Given the description of an element on the screen output the (x, y) to click on. 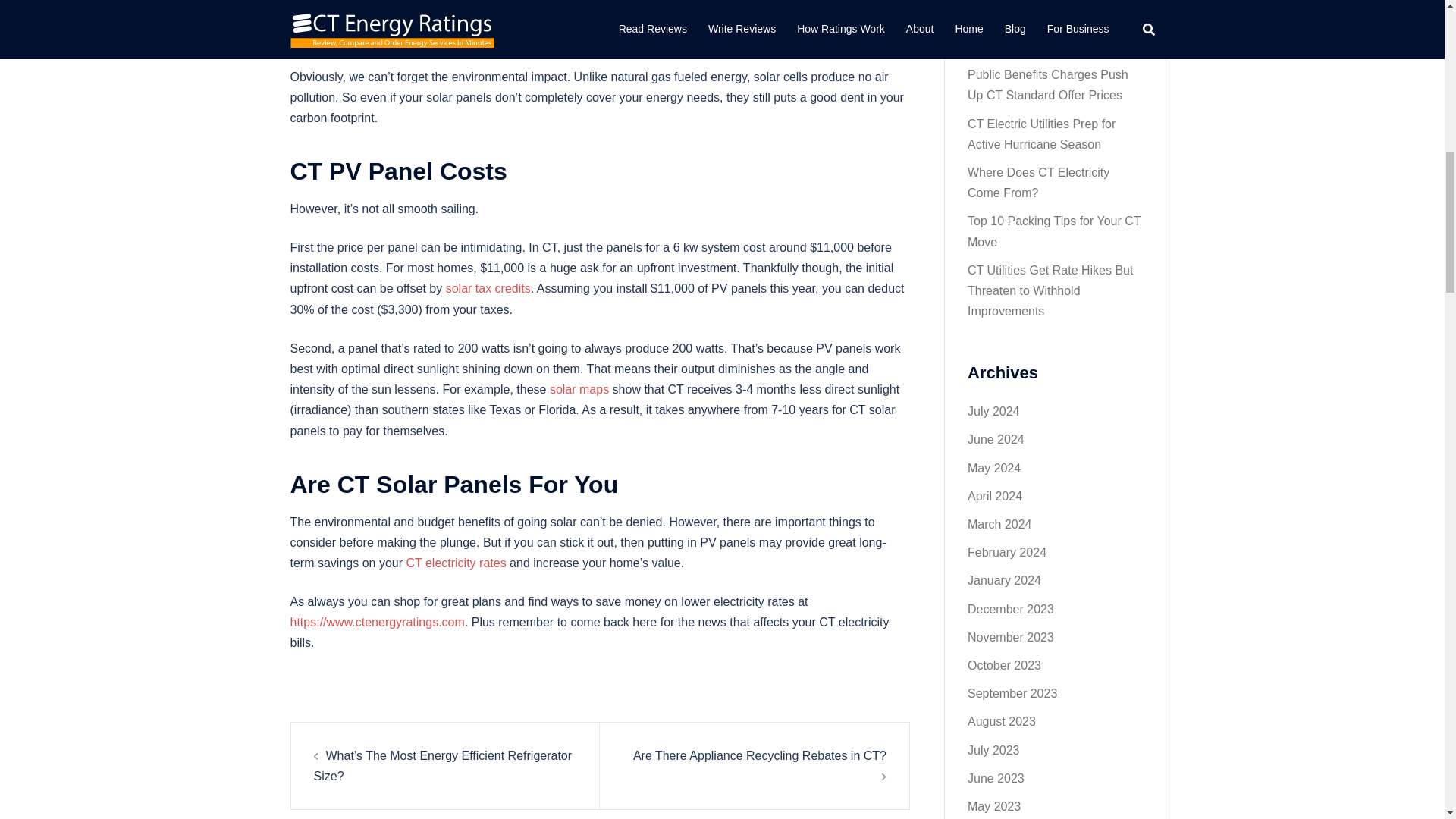
Forbes article (797, 16)
solar tax credits (488, 287)
solar maps (579, 389)
CT electricity rates (455, 562)
